Given the description of an element on the screen output the (x, y) to click on. 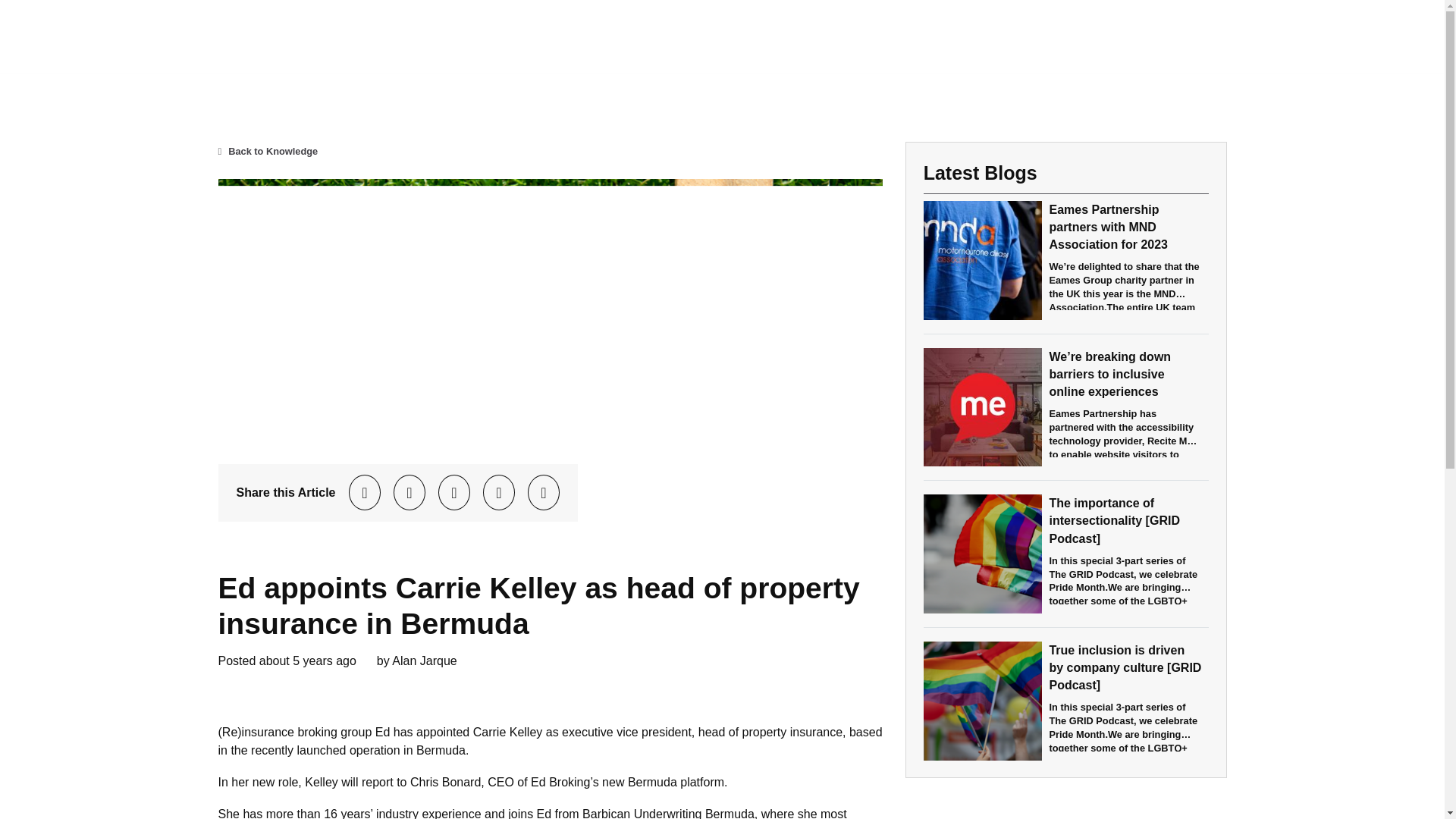
Facebook (409, 492)
About us (1059, 36)
LinkedIn (454, 492)
Twitter (365, 492)
Email (543, 492)
WhatsApp (499, 492)
Back to Knowledge (268, 151)
Eames Partnership partners with MND Association for 2023 (1107, 226)
Services (1135, 36)
Testimonials (1222, 36)
Contact (1307, 36)
